Given the description of an element on the screen output the (x, y) to click on. 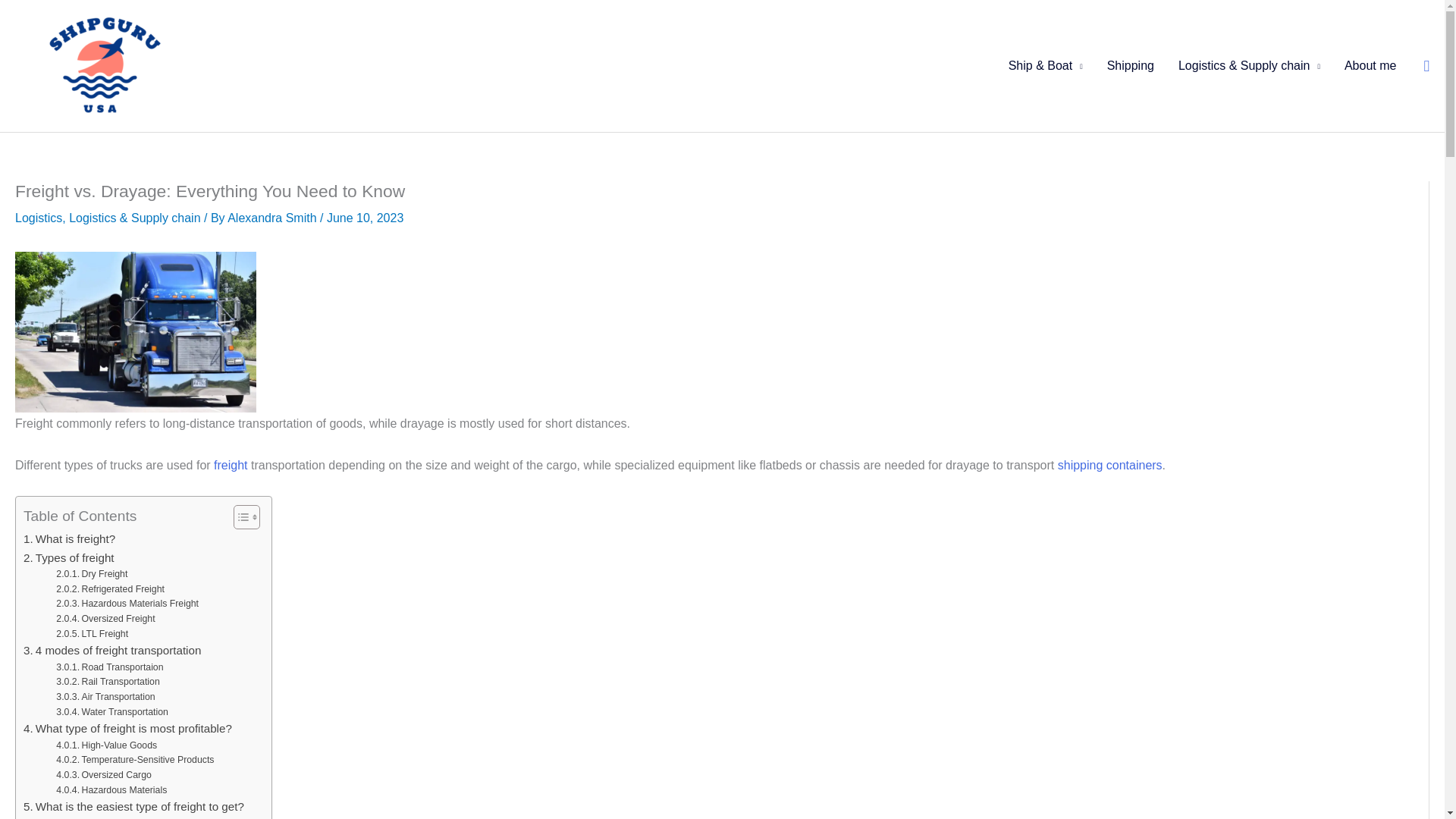
4 modes of freight transportation (111, 650)
What is freight? (69, 538)
About me (1369, 65)
Rail Transportation (107, 682)
Logistics (38, 217)
Air Transportation (105, 697)
Types of freight (69, 557)
View all posts by Alexandra Smith (271, 217)
What is freight? (69, 538)
shipping containers (1109, 464)
Dry Freight (92, 574)
Road Transportaion (109, 667)
Types of freight (69, 557)
Shipping (1130, 65)
Refrigerated Freight (110, 589)
